Given the description of an element on the screen output the (x, y) to click on. 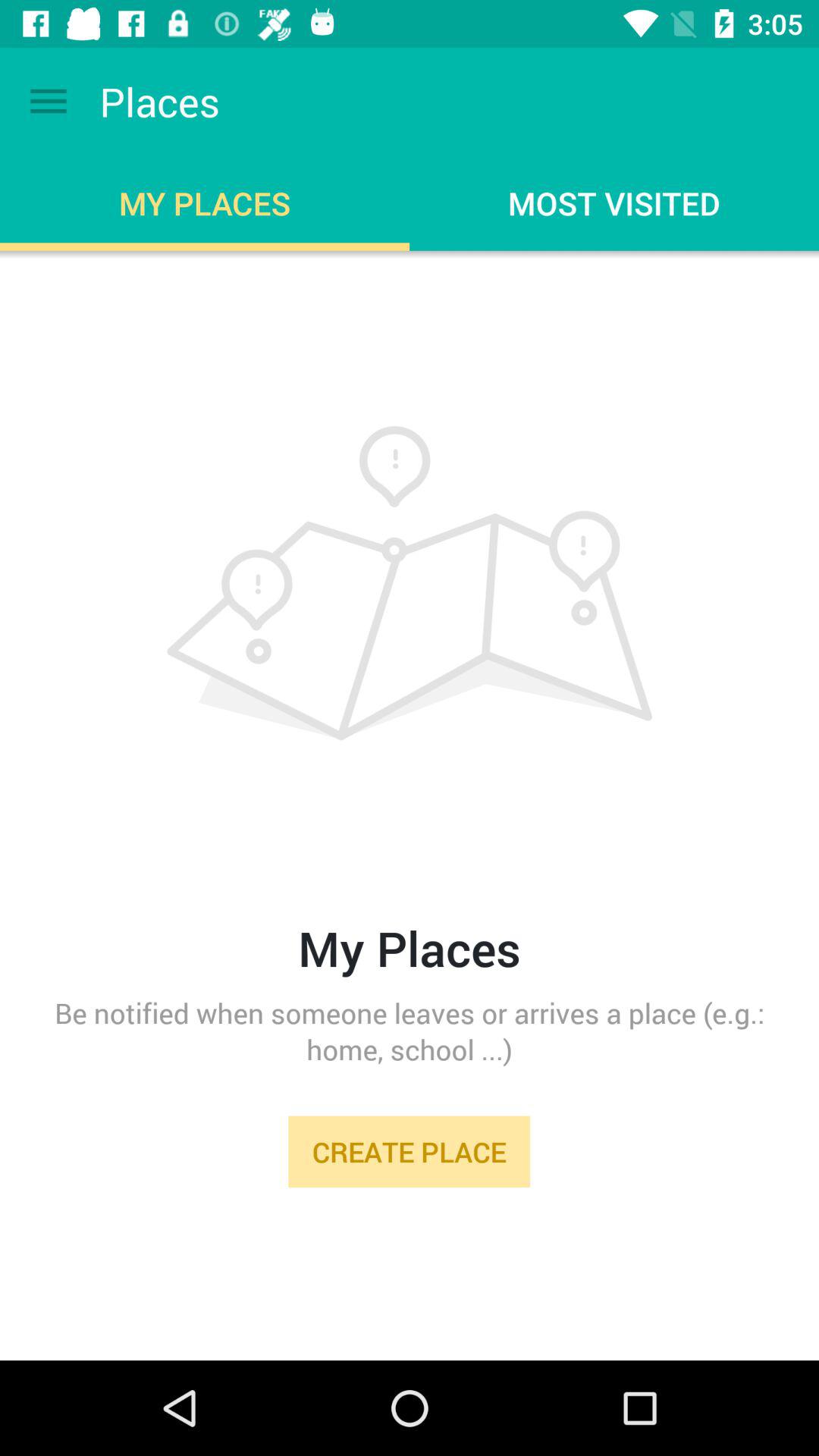
launch the icon below the be notified when (409, 1151)
